Given the description of an element on the screen output the (x, y) to click on. 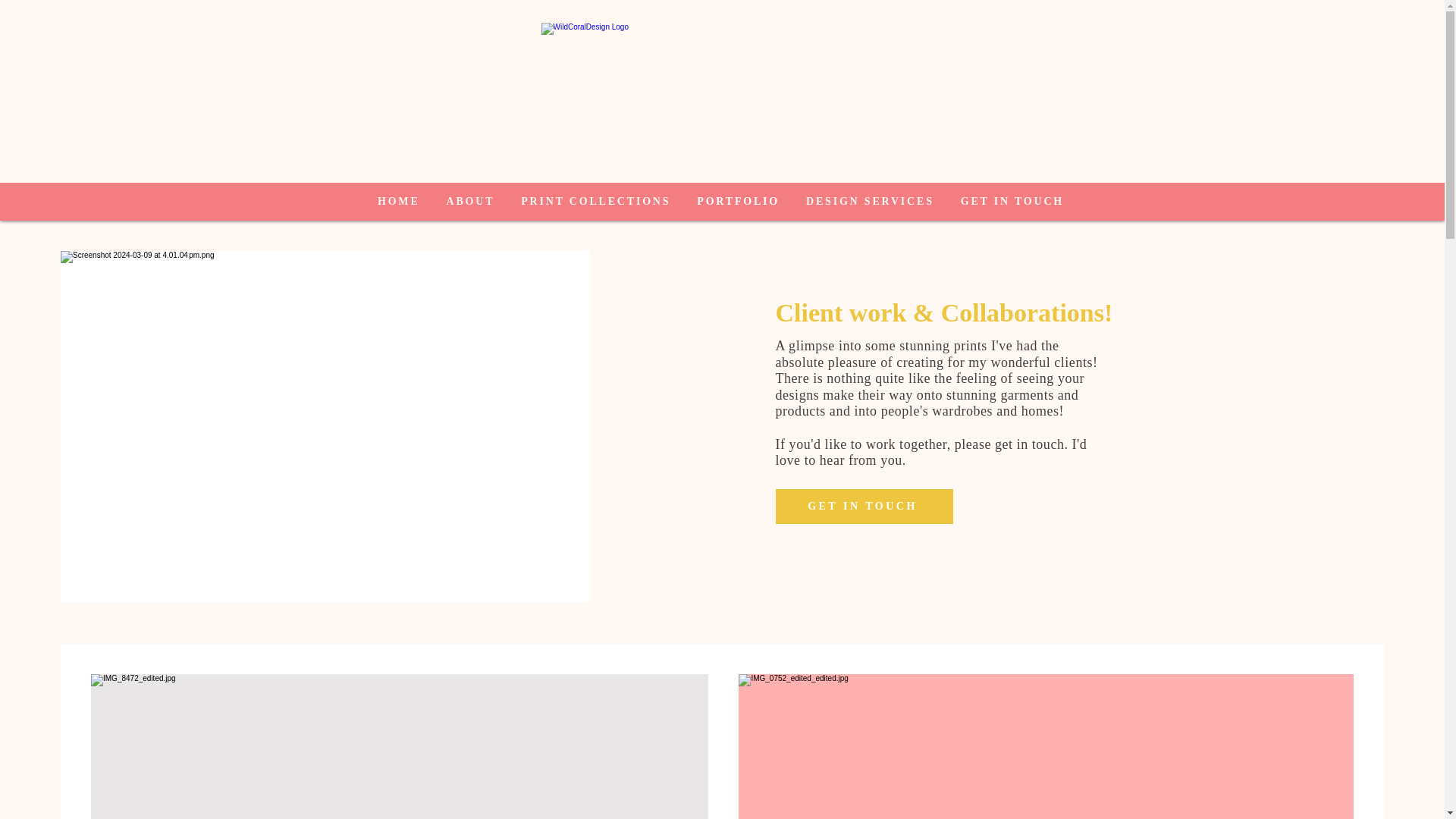
HOME (397, 201)
ABOUT (470, 201)
GET IN TOUCH (1012, 201)
PORTFOLIO (738, 201)
GET IN TOUCH (863, 506)
DESIGN SERVICES (870, 201)
